Given the description of an element on the screen output the (x, y) to click on. 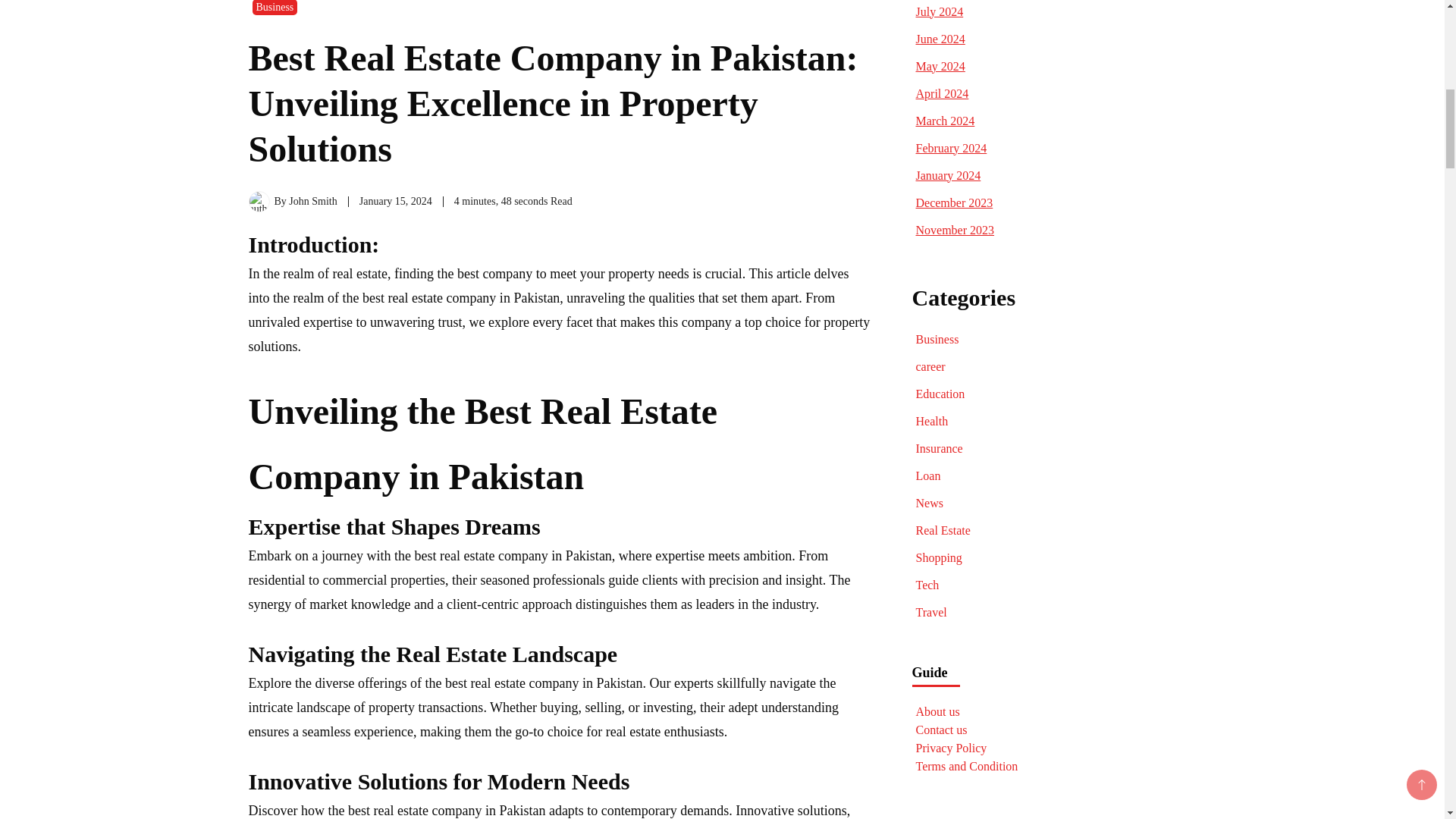
John Smith (312, 201)
January 15, 2024 (395, 201)
Business (274, 7)
